Given the description of an element on the screen output the (x, y) to click on. 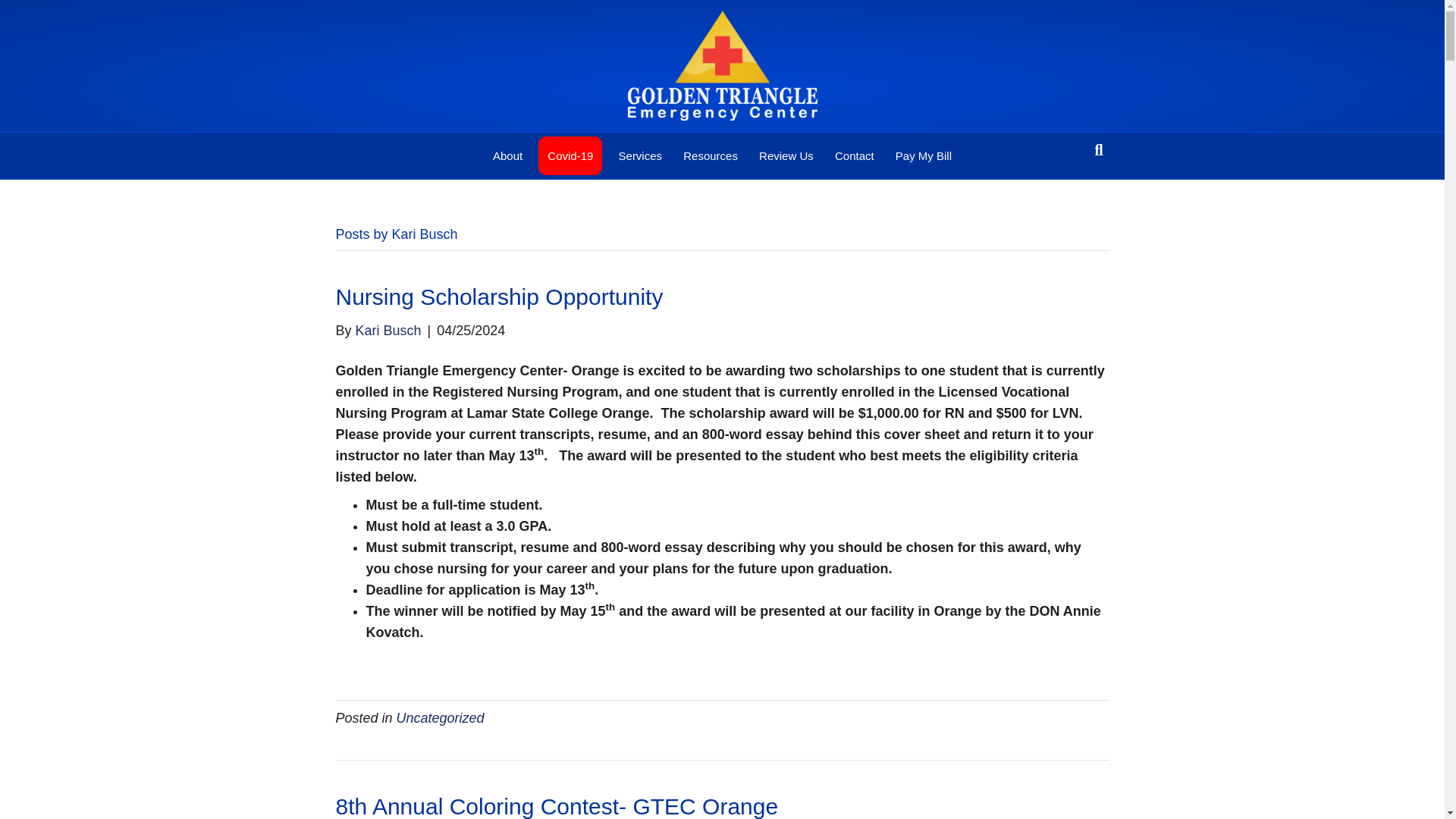
8th Annual Coloring Contest- GTEC Orange (555, 806)
Nursing Scholarship Opportunity (498, 296)
About (507, 155)
